Given the description of an element on the screen output the (x, y) to click on. 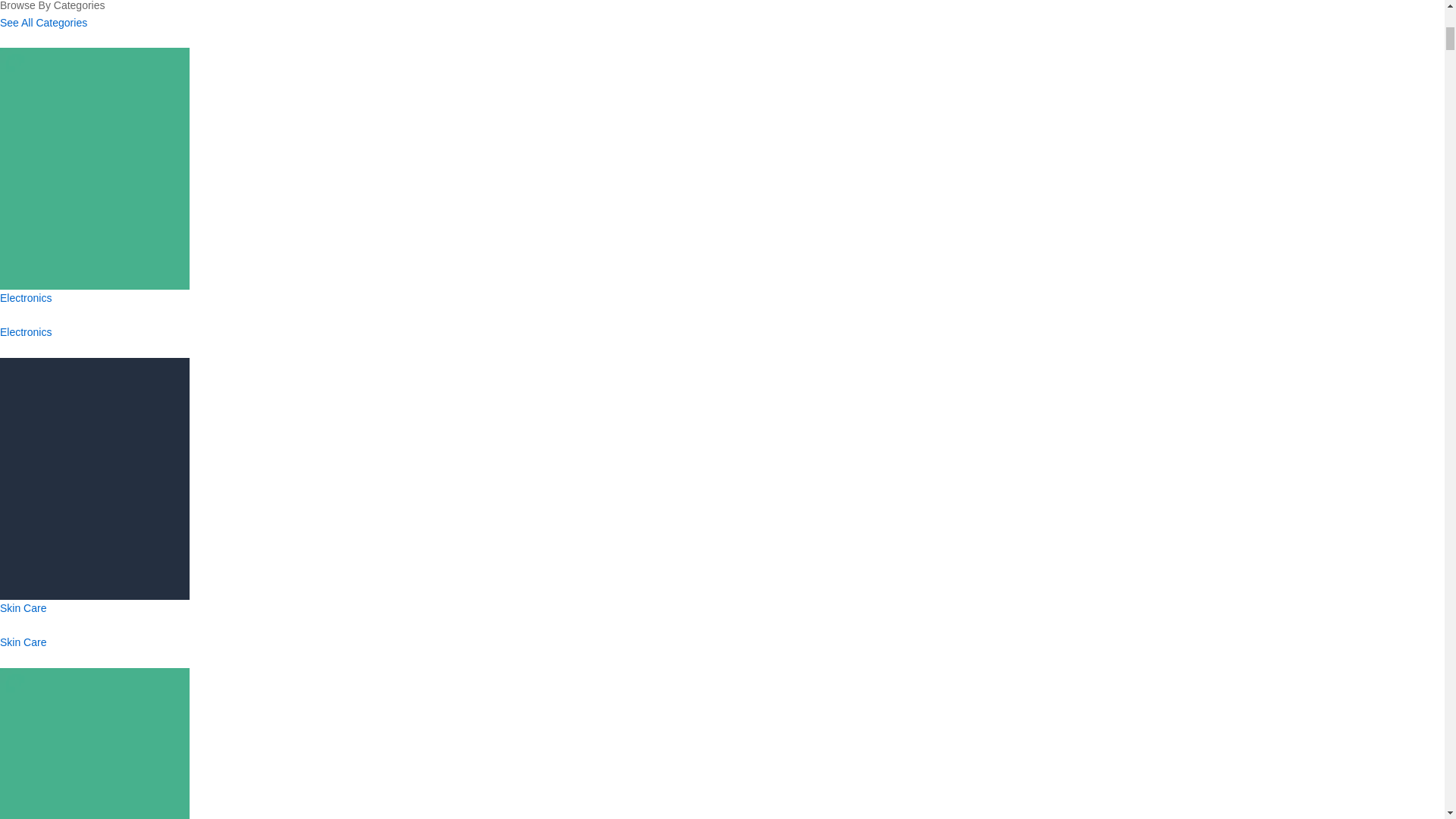
Video Games (94, 800)
See All Categories (43, 22)
Electronics (25, 331)
Skin Care (23, 642)
